Given the description of an element on the screen output the (x, y) to click on. 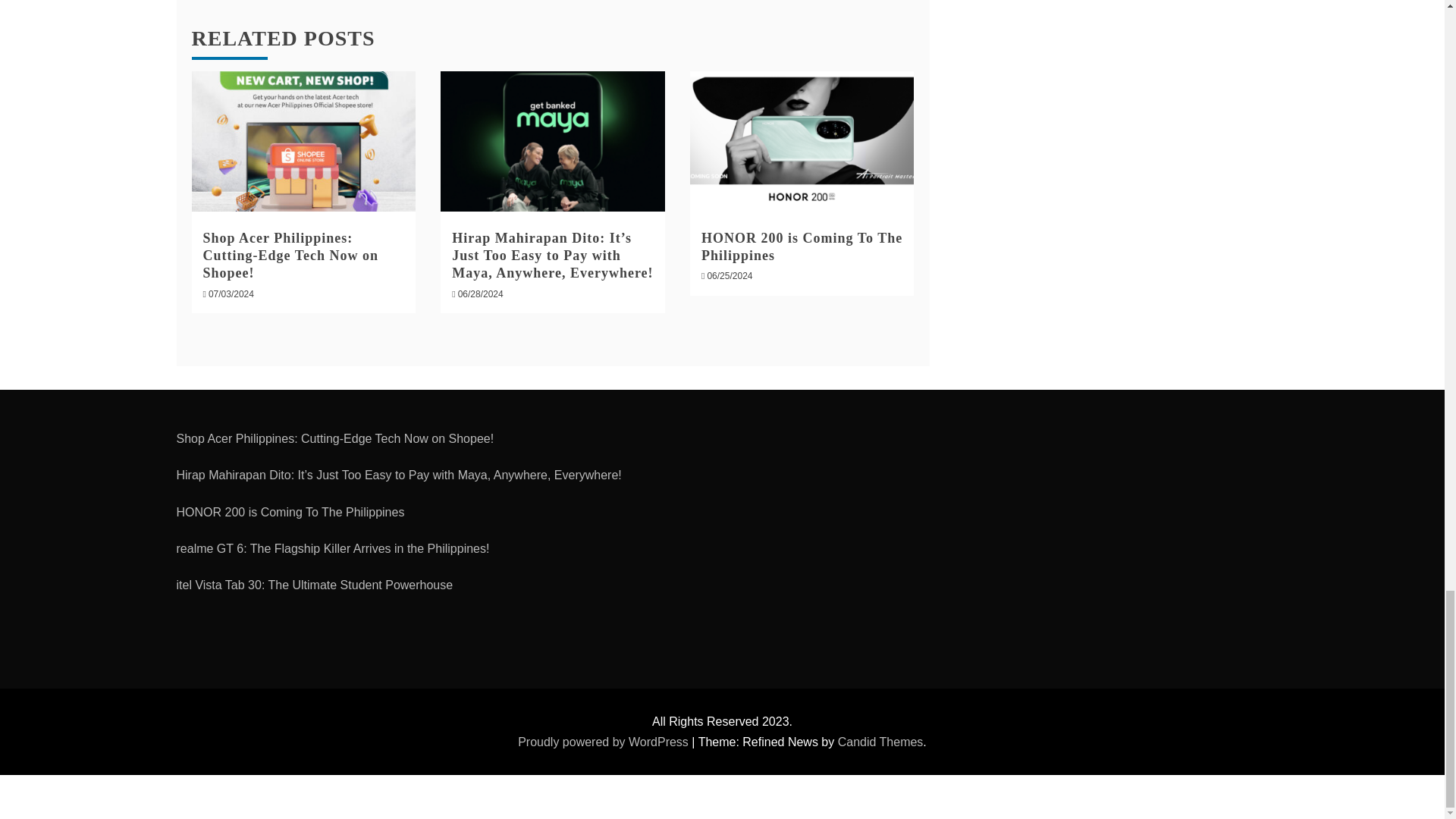
HONOR 200 is Coming To The Philippines (801, 246)
Shop Acer Philippines: Cutting-Edge Tech Now on Shopee! (290, 255)
